Given the description of an element on the screen output the (x, y) to click on. 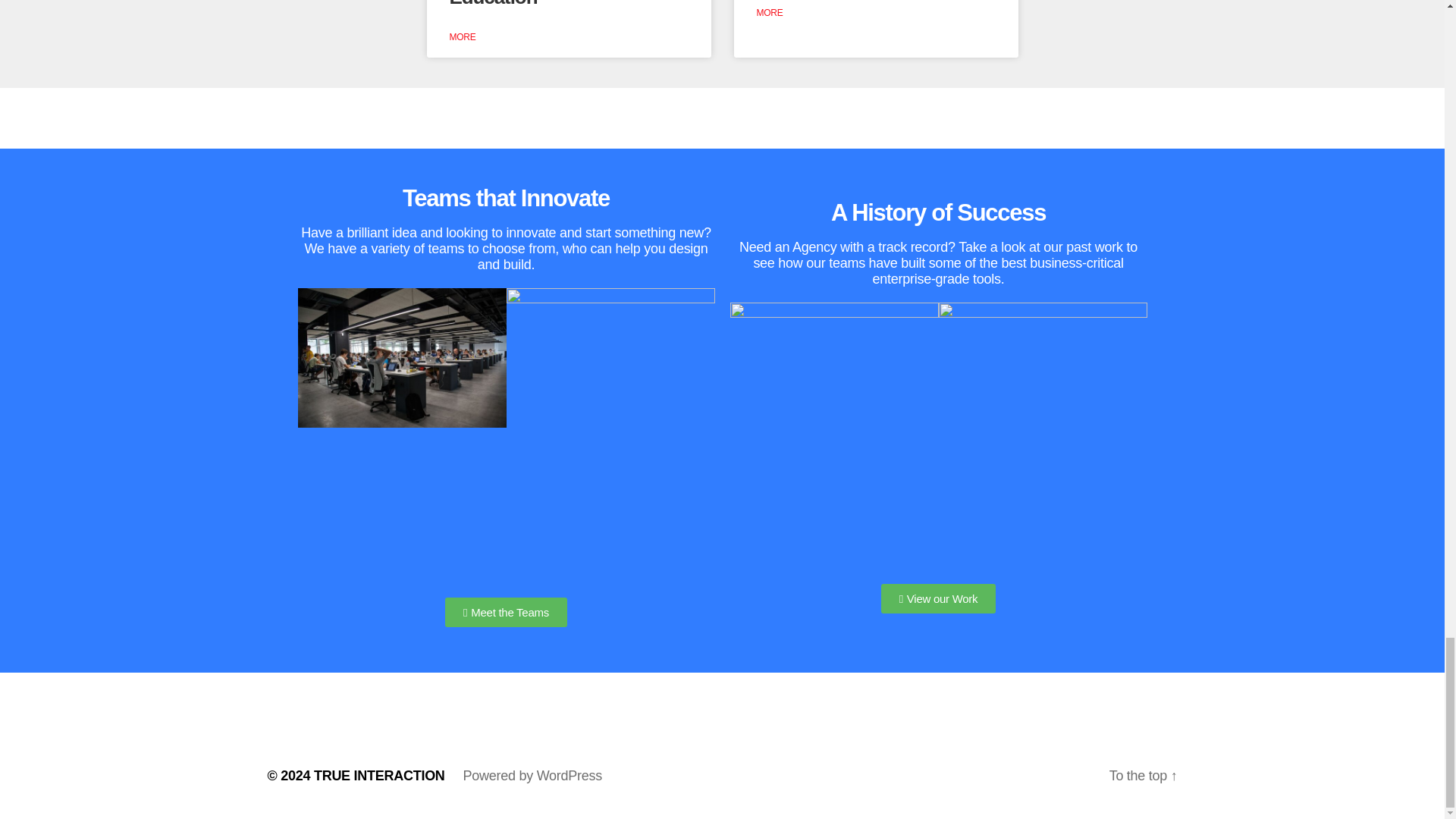
AI and the Classroom: Machine Learning in Education (544, 4)
MORE (770, 12)
MORE (462, 36)
